Given the description of an element on the screen output the (x, y) to click on. 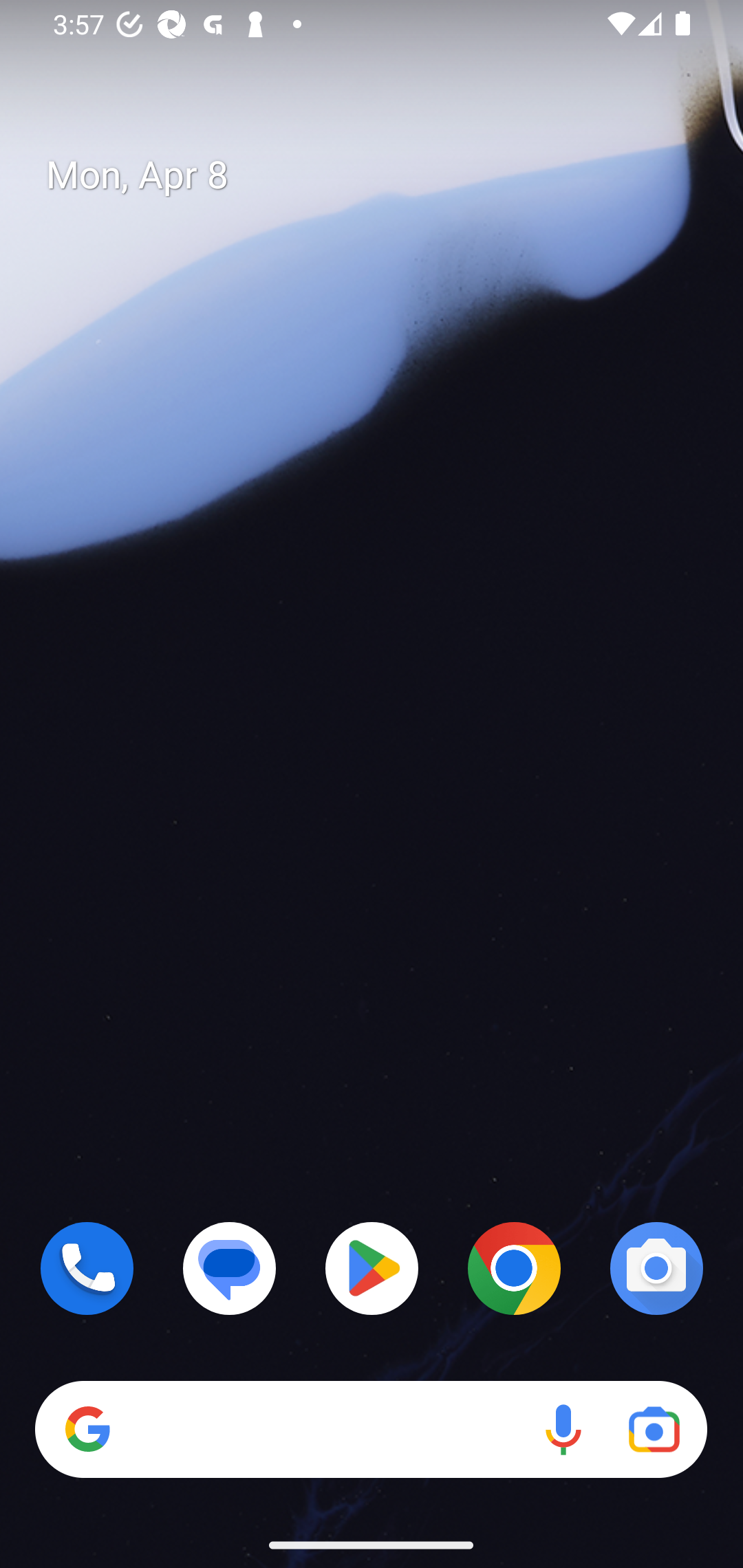
Mon, Apr 8 (386, 175)
Phone (86, 1268)
Messages (229, 1268)
Play Store (371, 1268)
Chrome (513, 1268)
Camera (656, 1268)
Search Voice search Google Lens (370, 1429)
Voice search (562, 1429)
Google Lens (653, 1429)
